Given the description of an element on the screen output the (x, y) to click on. 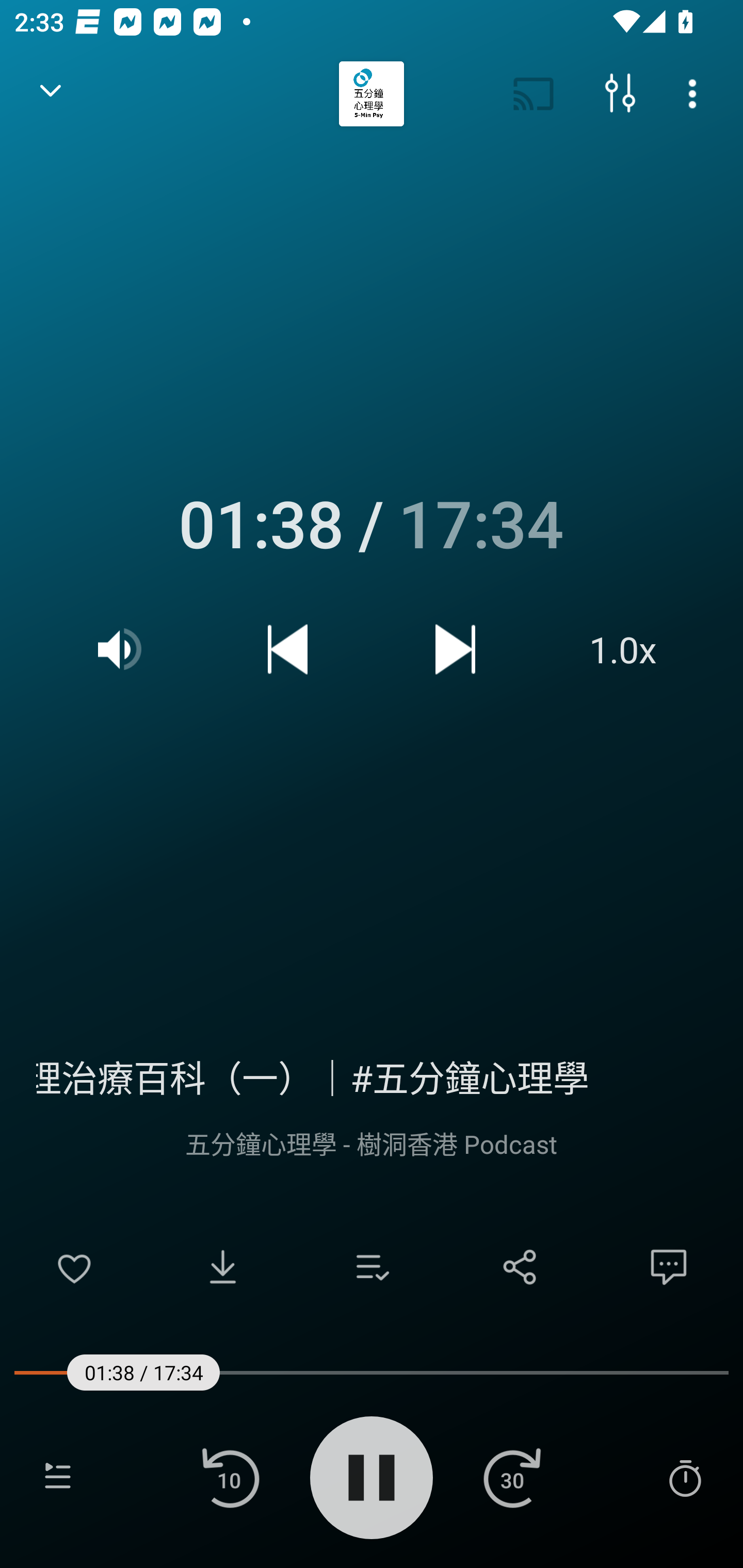
Cast. Disconnected (533, 93)
 Back (50, 94)
01:38 / 17:34 1.0x (371, 591)
1.0x (622, 648)
#PSY｜困擾源於盲點？認知行為治療 CBT！心理治療百科（一）｜#五分鐘心理學 (371, 1075)
五分鐘心理學 - 樹洞香港 Podcast (371, 1142)
Comments (668, 1266)
Add to Favorites (73, 1266)
Add to playlist (371, 1266)
Share (519, 1266)
 Playlist (57, 1477)
Sleep Timer  (684, 1477)
